Given the description of an element on the screen output the (x, y) to click on. 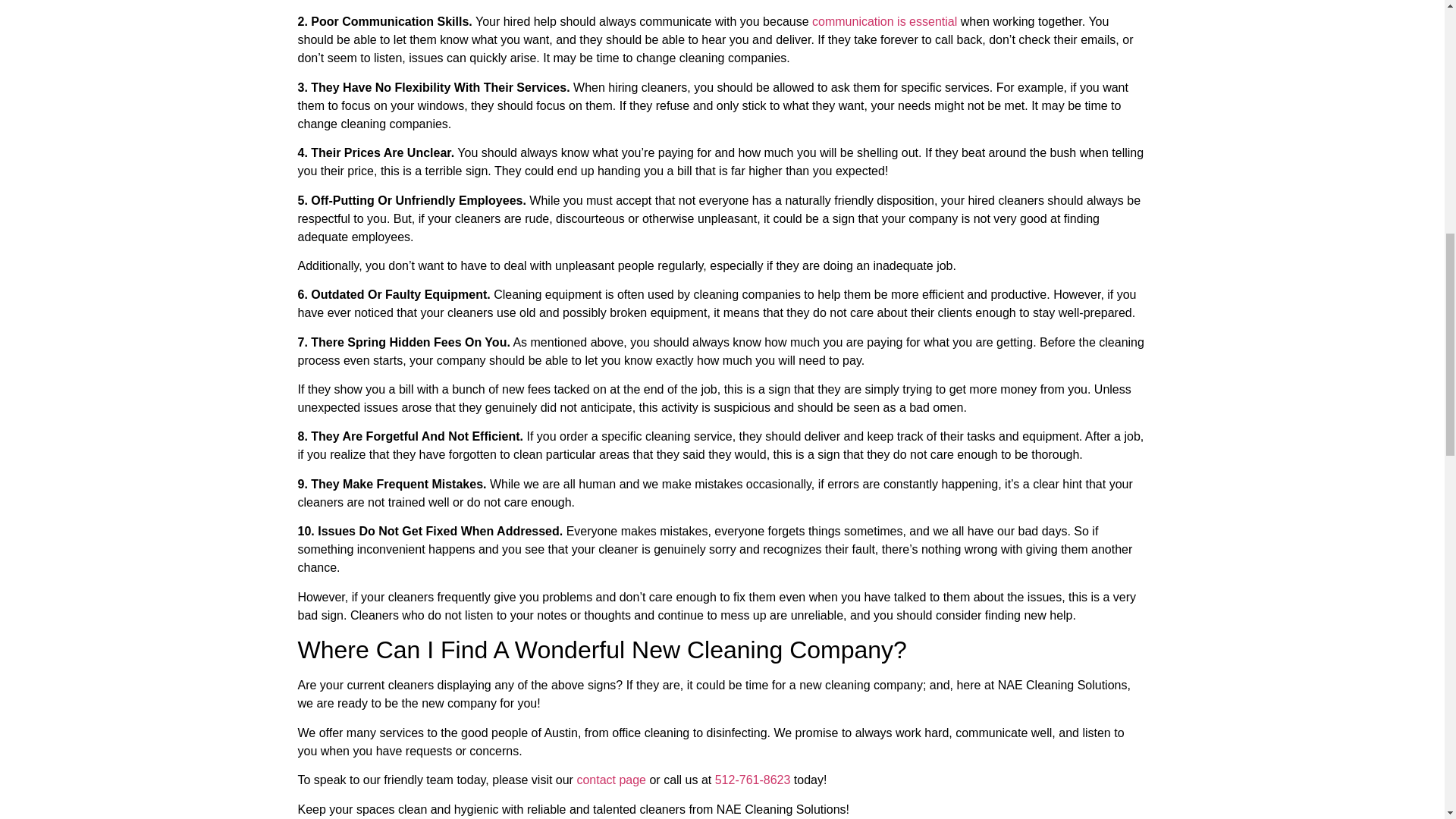
512-761-8623 (752, 779)
contact page (611, 779)
communication is essential (884, 21)
